Given the description of an element on the screen output the (x, y) to click on. 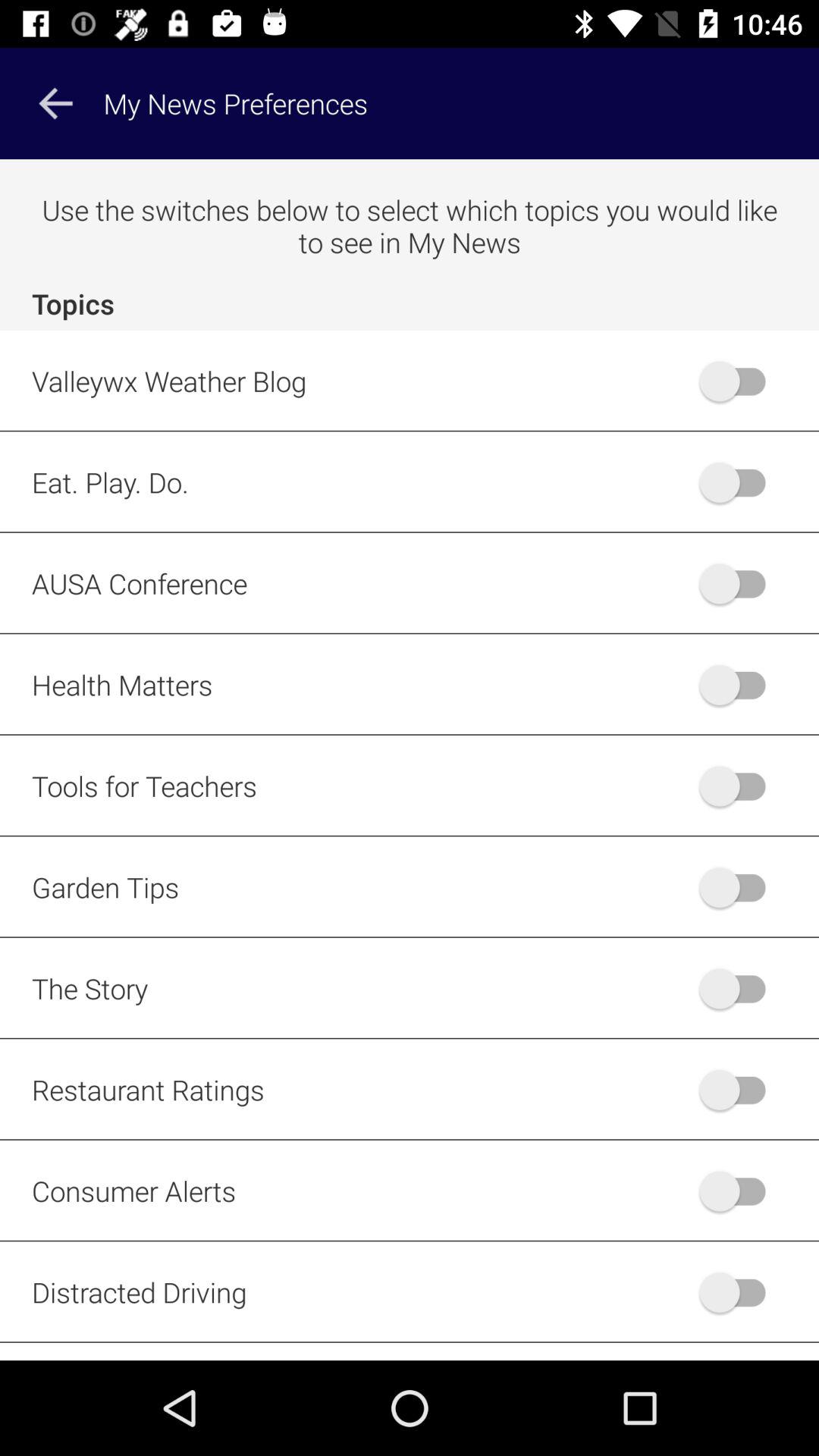
turn the consumer alerts on (739, 1190)
